Given the description of an element on the screen output the (x, y) to click on. 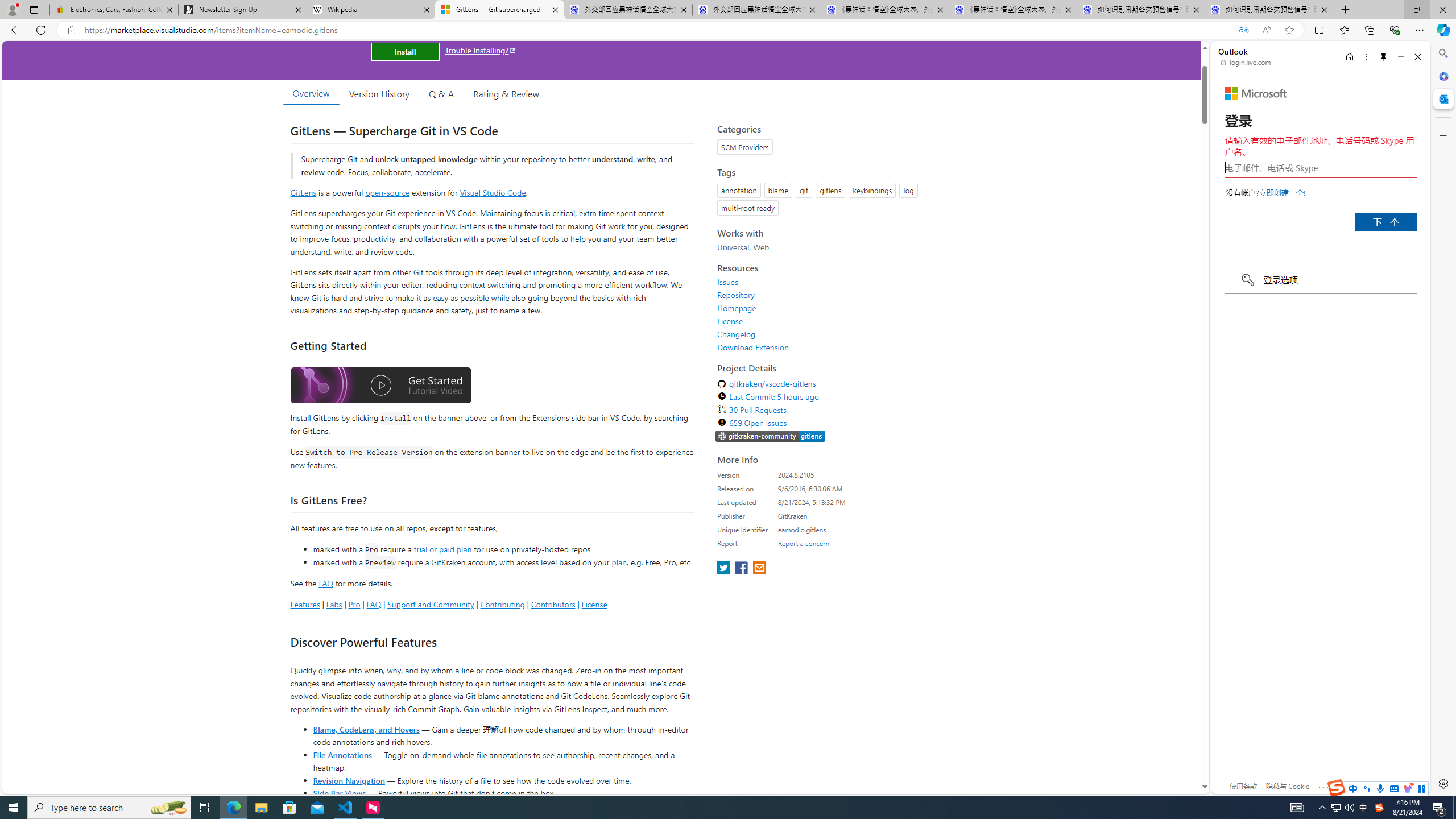
share extension on email (759, 568)
Wikipedia (370, 9)
Install (405, 51)
Changelog (736, 333)
